Given the description of an element on the screen output the (x, y) to click on. 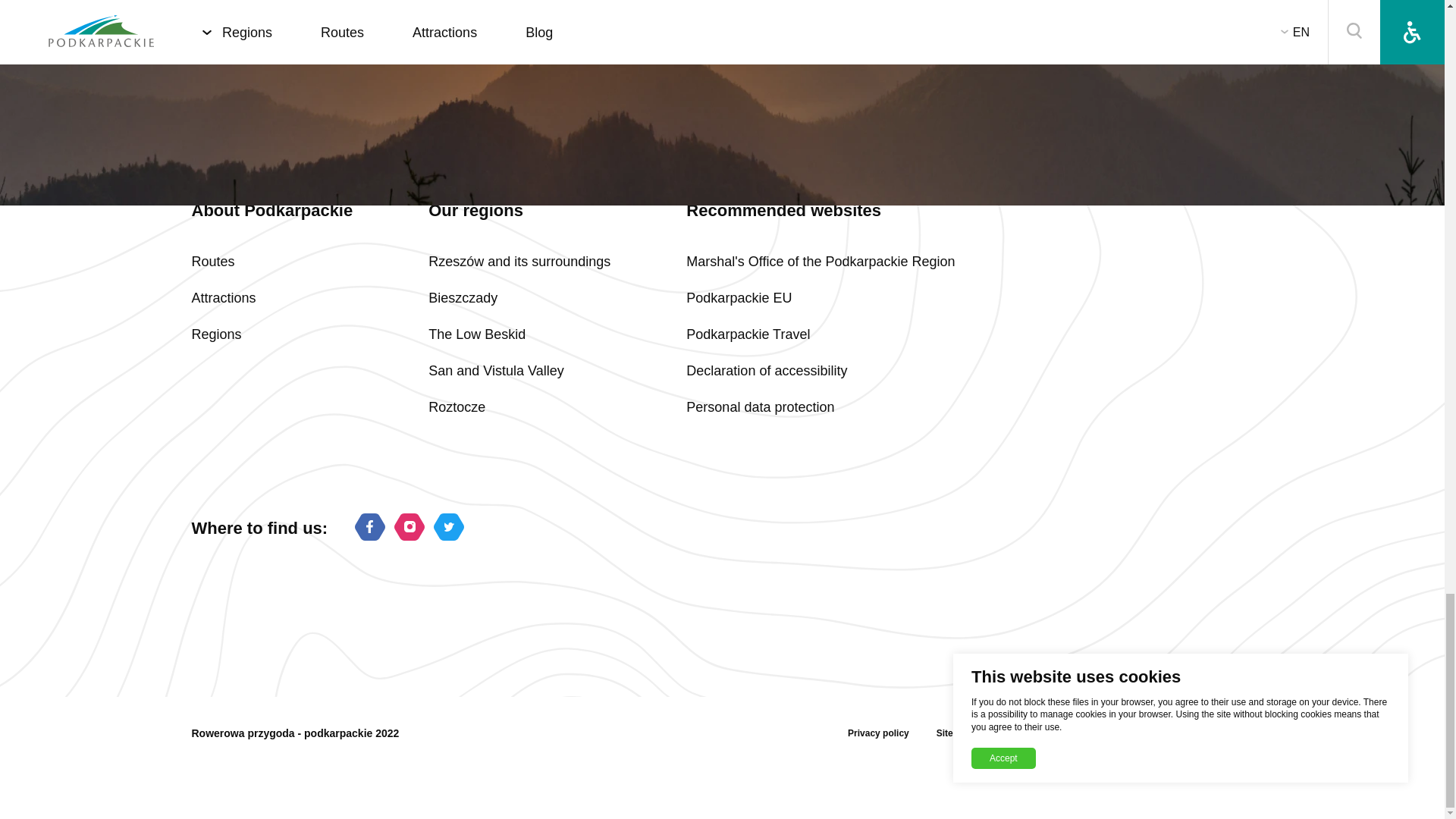
Instagram (409, 528)
Interactive Vision (1219, 732)
Twitter (448, 528)
Facebook (370, 528)
